Given the description of an element on the screen output the (x, y) to click on. 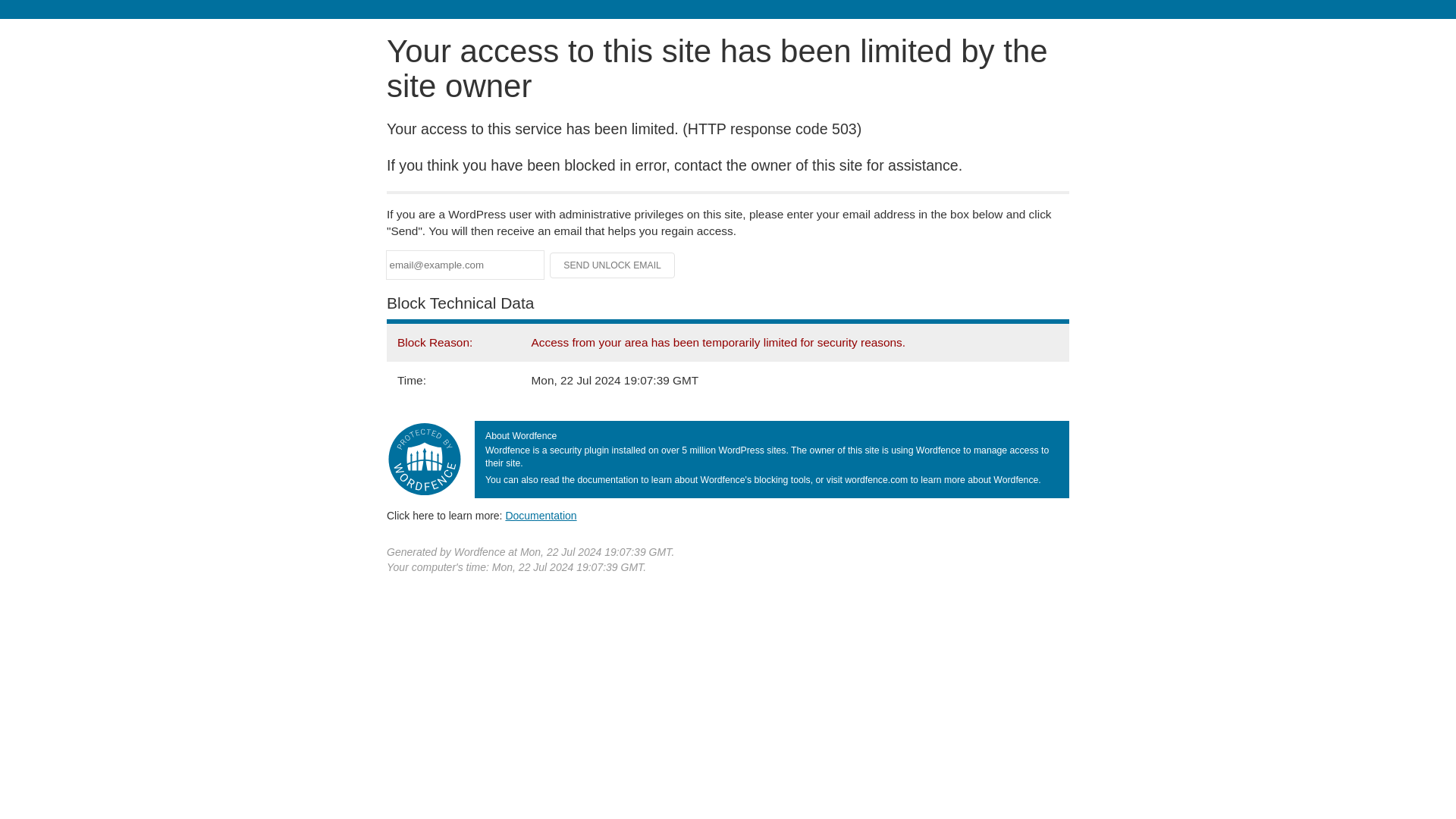
Send Unlock Email (612, 265)
Documentation (540, 515)
Send Unlock Email (612, 265)
